Given the description of an element on the screen output the (x, y) to click on. 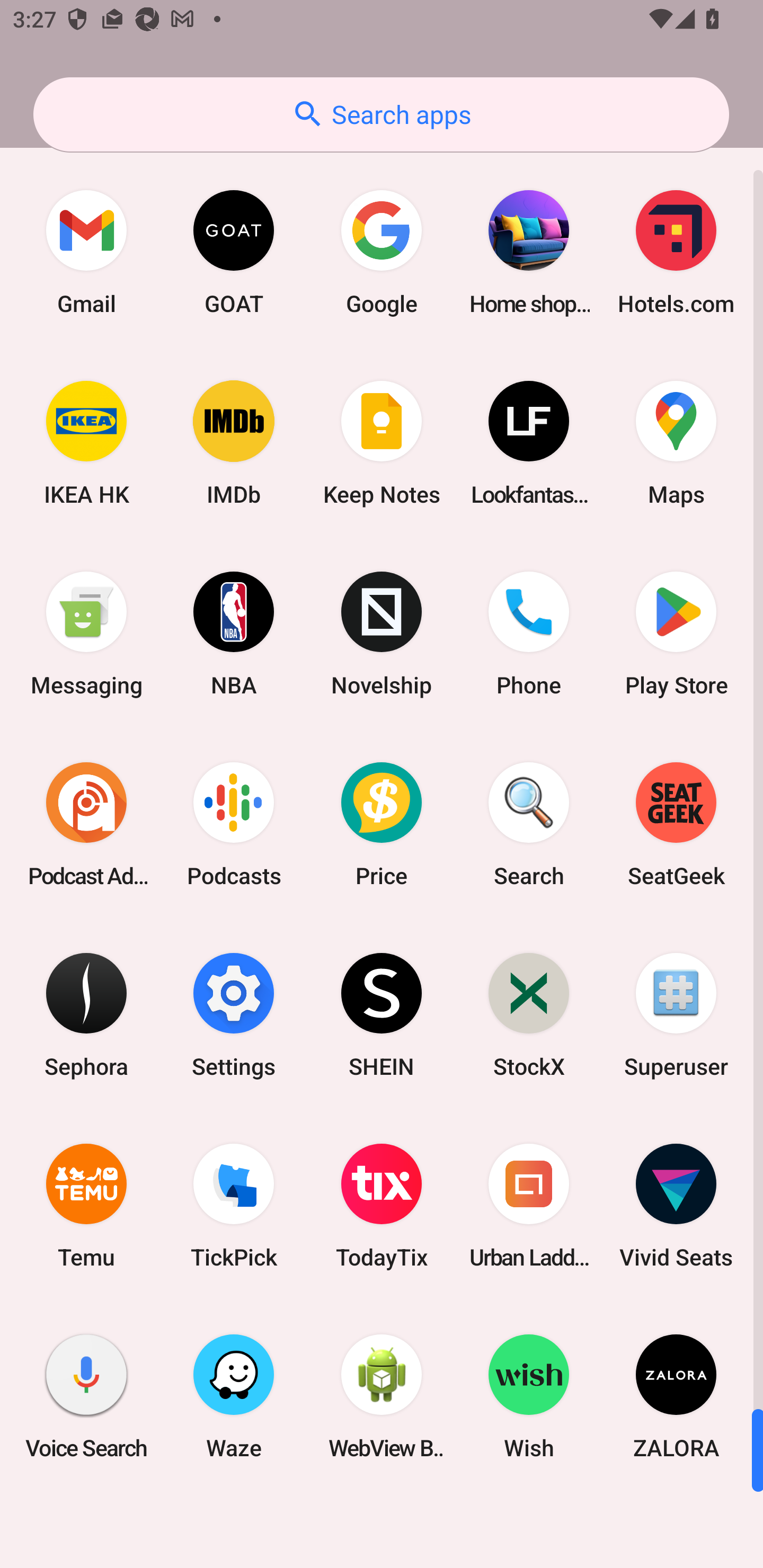
  Search apps (381, 114)
Gmail (86, 252)
GOAT (233, 252)
Google (381, 252)
Home shopping (528, 252)
Hotels.com (676, 252)
IKEA HK (86, 442)
IMDb (233, 442)
Keep Notes (381, 442)
Lookfantastic (528, 442)
Maps (676, 442)
Messaging (86, 633)
NBA (233, 633)
Novelship (381, 633)
Phone (528, 633)
Play Store (676, 633)
Podcast Addict (86, 823)
Podcasts (233, 823)
Price (381, 823)
Search (528, 823)
SeatGeek (676, 823)
Sephora (86, 1014)
Settings (233, 1014)
SHEIN (381, 1014)
StockX (528, 1014)
Superuser (676, 1014)
Temu (86, 1205)
TickPick (233, 1205)
TodayTix (381, 1205)
Urban Ladder (528, 1205)
Vivid Seats (676, 1205)
Voice Search (86, 1396)
Waze (233, 1396)
WebView Browser Tester (381, 1396)
Wish (528, 1396)
ZALORA (676, 1396)
